Given the description of an element on the screen output the (x, y) to click on. 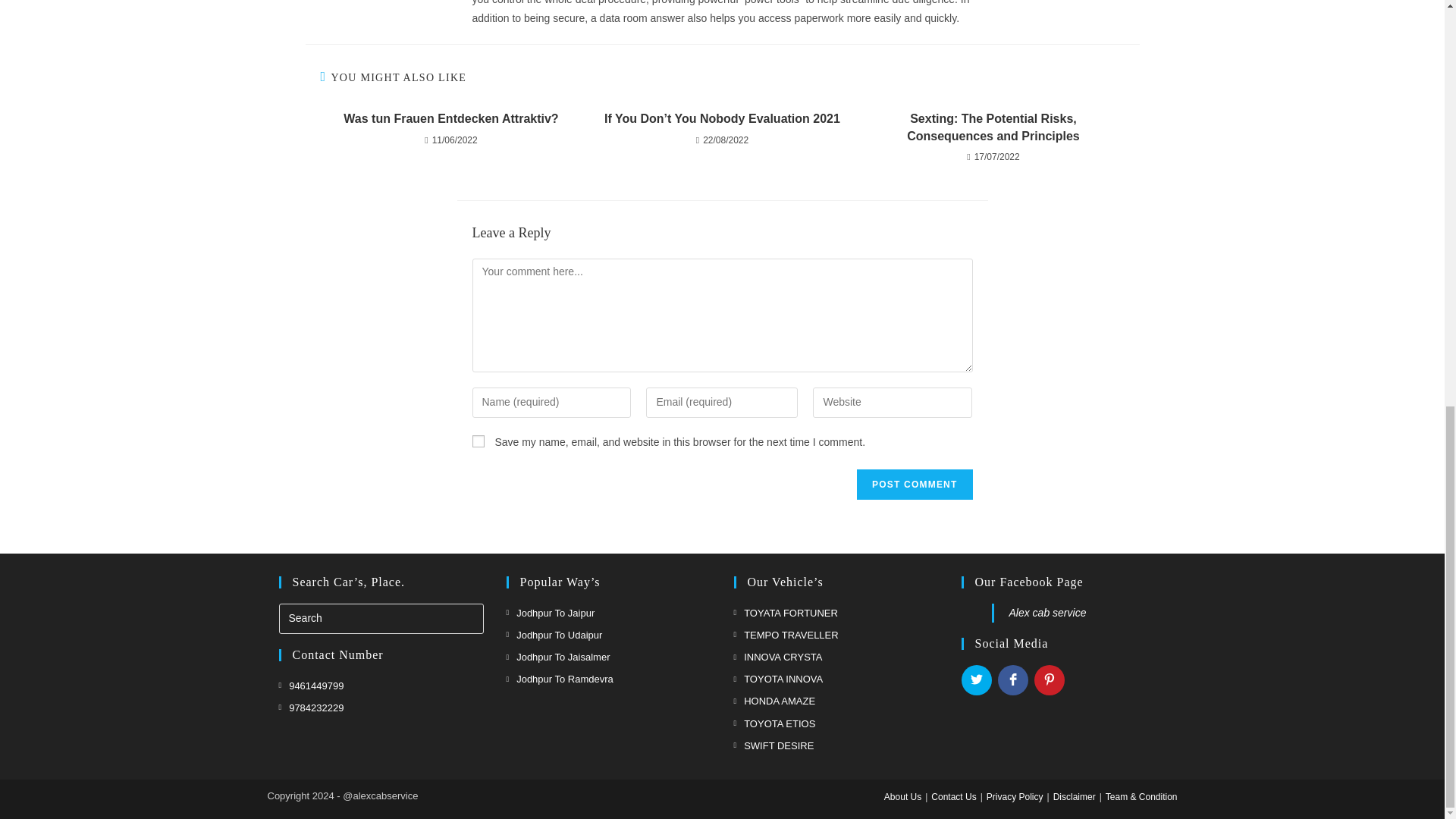
Share on Facebook (1012, 680)
yes (477, 440)
Was tun Frauen Entdecken Attraktiv? (450, 118)
Share on Pinterest (1048, 680)
Post Comment (914, 484)
Post Comment (914, 484)
Share on Twitter (975, 680)
Sexting: The Potential Risks, Consequences and Principles (992, 127)
